Given the description of an element on the screen output the (x, y) to click on. 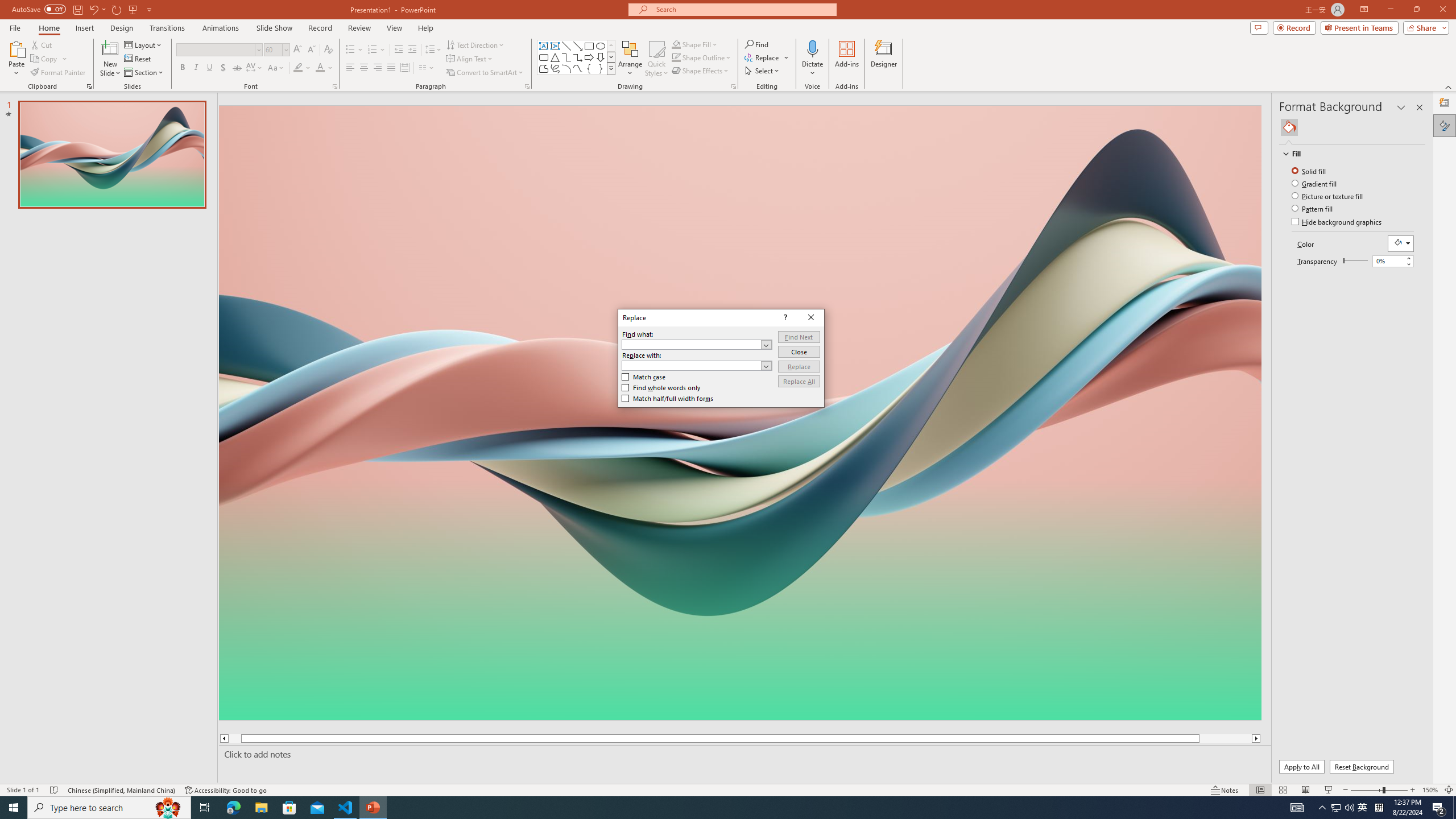
Solid fill (1309, 170)
Replace with (691, 365)
Apply to All (1301, 766)
